Given the description of an element on the screen output the (x, y) to click on. 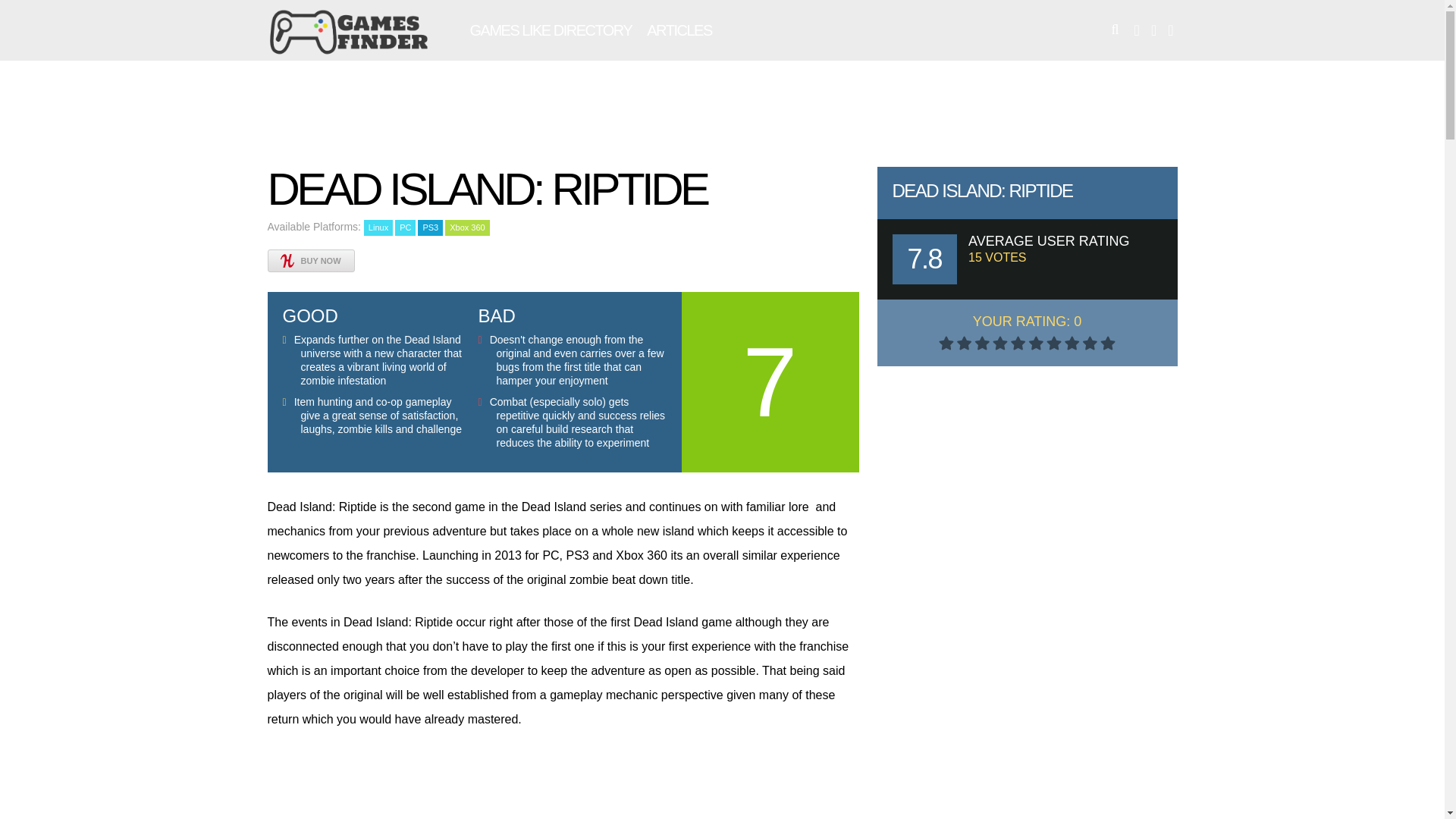
GAMES LIKE DIRECTORY (550, 29)
Games Finder (348, 52)
BUY NOW (309, 258)
DEAD ISLAND: RIPTIDE (981, 190)
ARTICLES (678, 29)
